Given the description of an element on the screen output the (x, y) to click on. 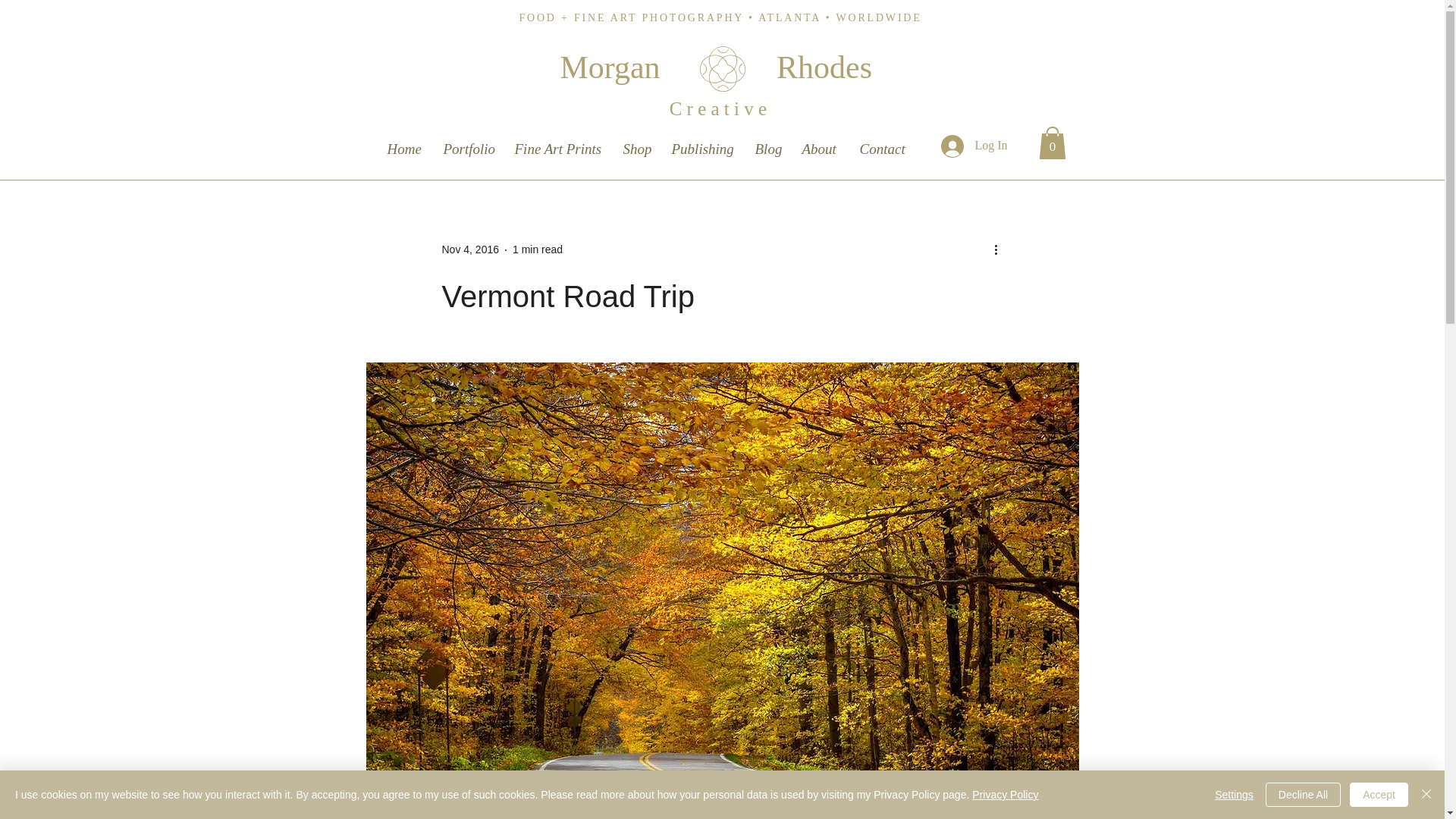
Nov 4, 2016 (470, 249)
Blog (768, 142)
1 min read (537, 249)
Publishing (702, 142)
Home (405, 142)
Rhodes (824, 67)
Fine Art Prints (558, 142)
Shop (636, 142)
Contact (881, 142)
Morgan (609, 67)
